Given the description of an element on the screen output the (x, y) to click on. 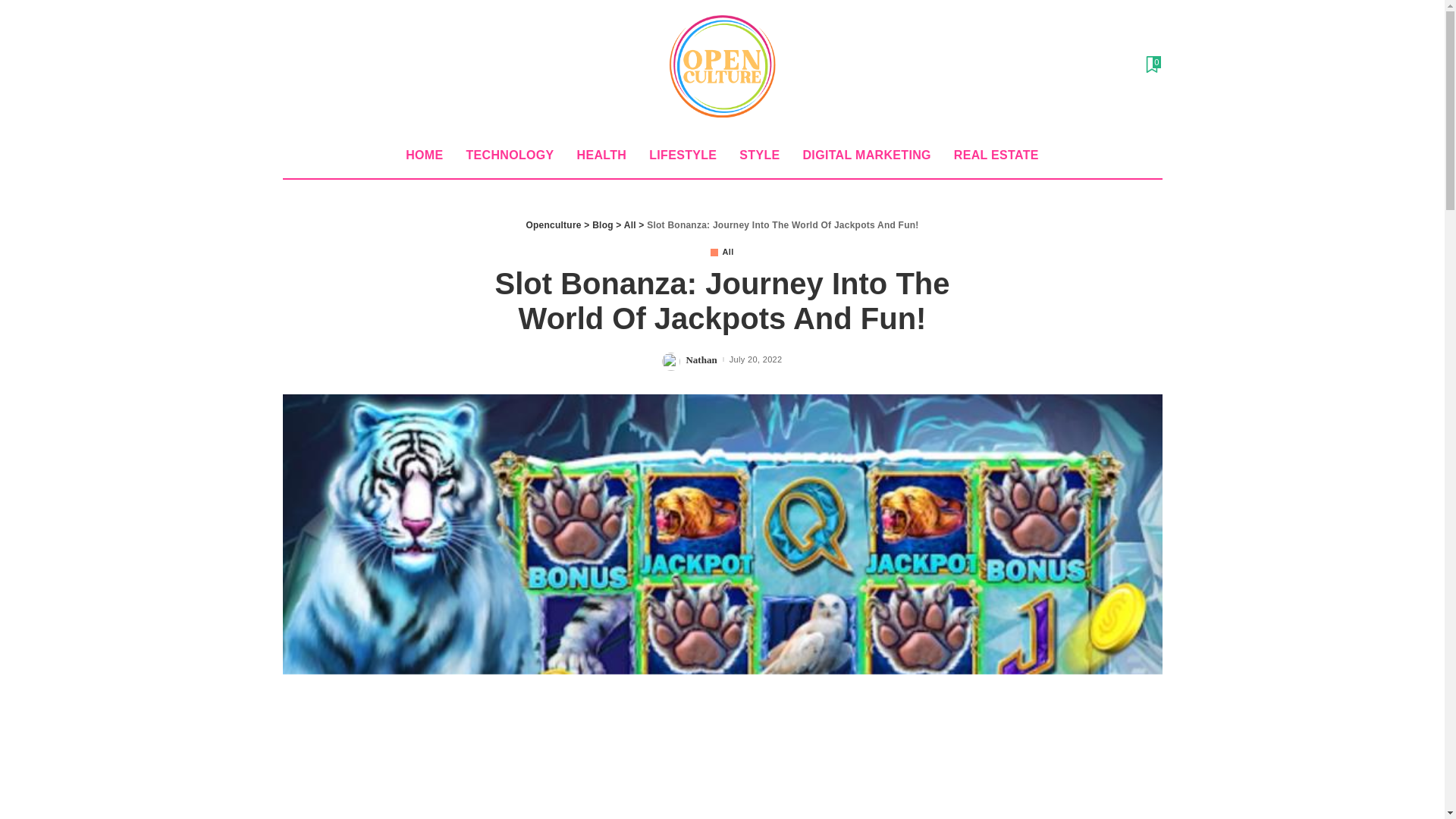
All (721, 252)
LIFESTYLE (682, 155)
Openculture (552, 225)
DIGITAL MARKETING (867, 155)
HEALTH (602, 155)
Go to Openculture. (552, 225)
Nathan (700, 359)
All (630, 225)
Blog (602, 225)
Openculture (722, 66)
